Given the description of an element on the screen output the (x, y) to click on. 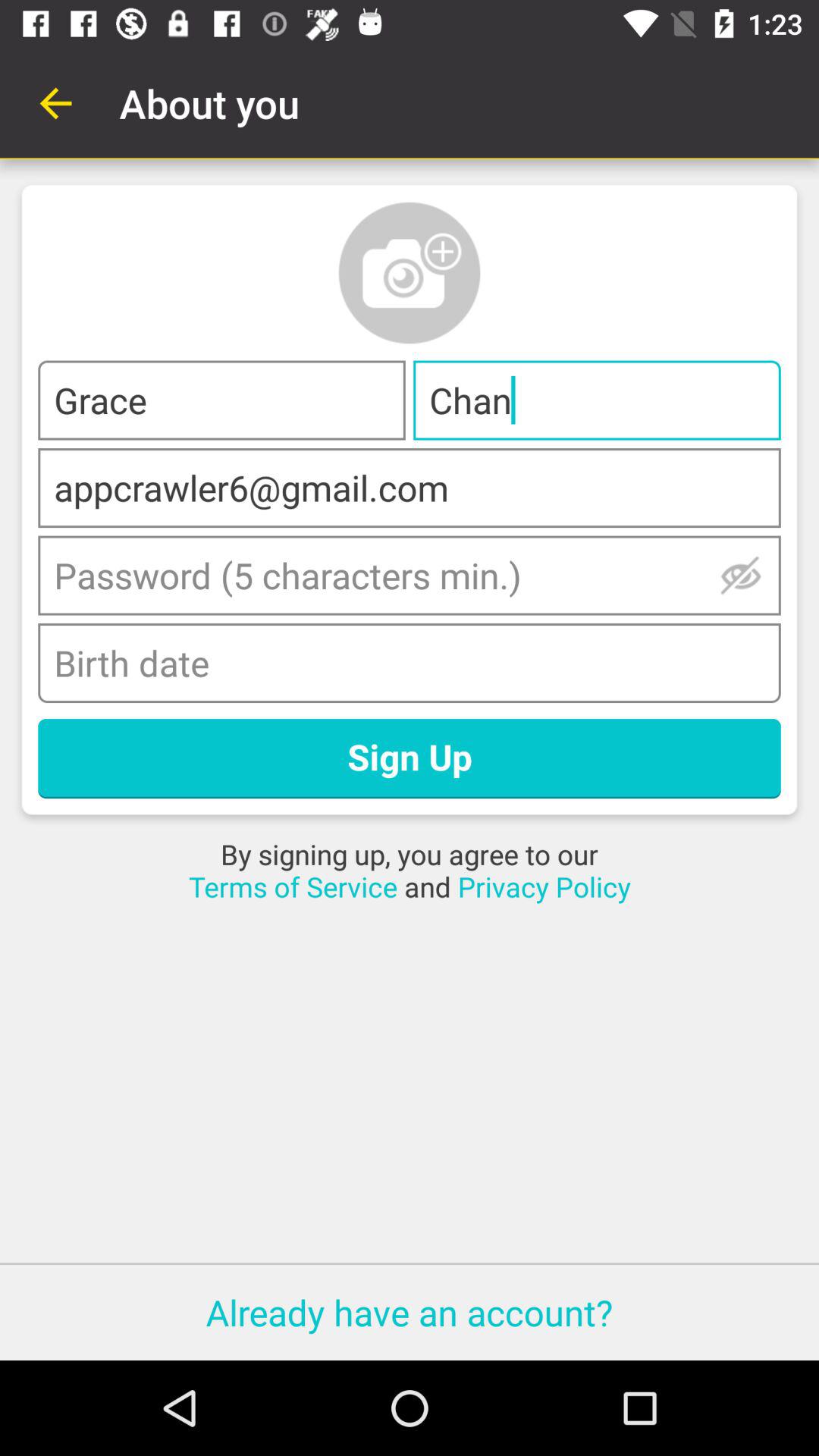
show password (740, 575)
